Given the description of an element on the screen output the (x, y) to click on. 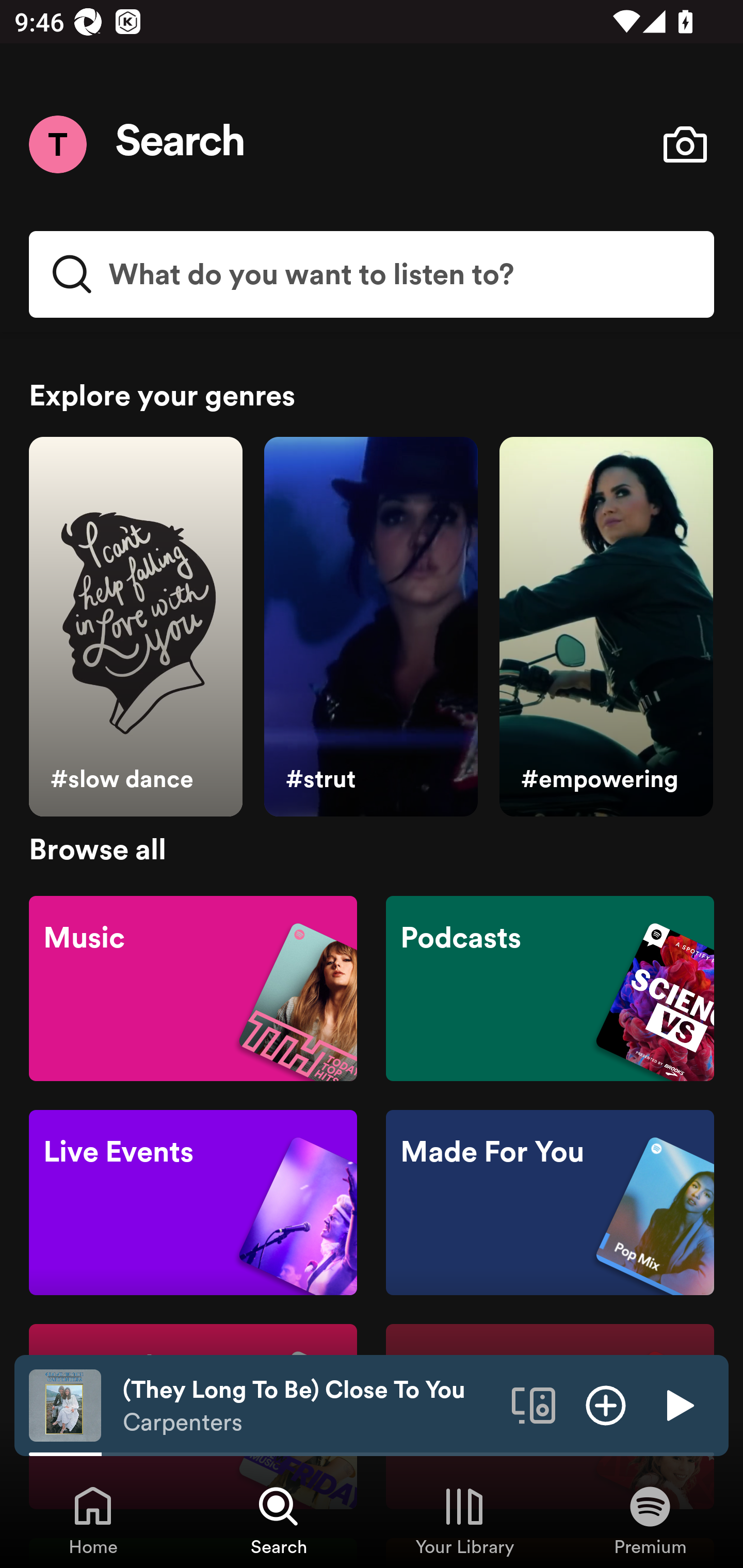
Menu (57, 144)
Open camera (685, 145)
Search (180, 144)
#slow dance (135, 626)
#strut (370, 626)
#empowering (606, 626)
Music (192, 987)
Podcasts (549, 987)
Live Events (192, 1202)
Made For You (549, 1202)
(They Long To Be) Close To You Carpenters (309, 1405)
The cover art of the currently playing track (64, 1404)
Connect to a device. Opens the devices menu (533, 1404)
Add item (605, 1404)
Play (677, 1404)
Home, Tab 1 of 4 Home Home (92, 1519)
Search, Tab 2 of 4 Search Search (278, 1519)
Your Library, Tab 3 of 4 Your Library Your Library (464, 1519)
Premium, Tab 4 of 4 Premium Premium (650, 1519)
